Given the description of an element on the screen output the (x, y) to click on. 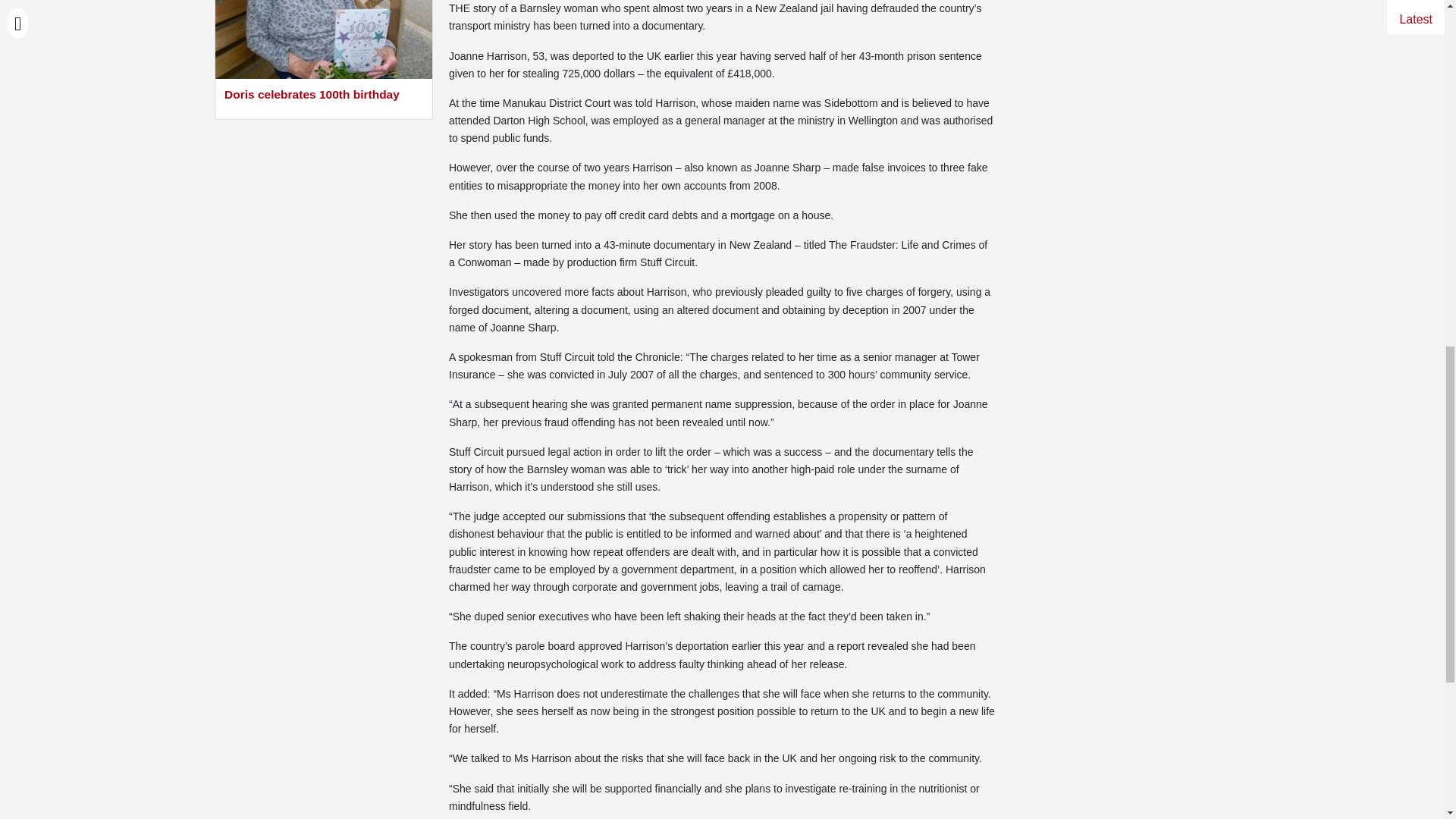
Doris celebrates 100th birthday (323, 96)
